Given the description of an element on the screen output the (x, y) to click on. 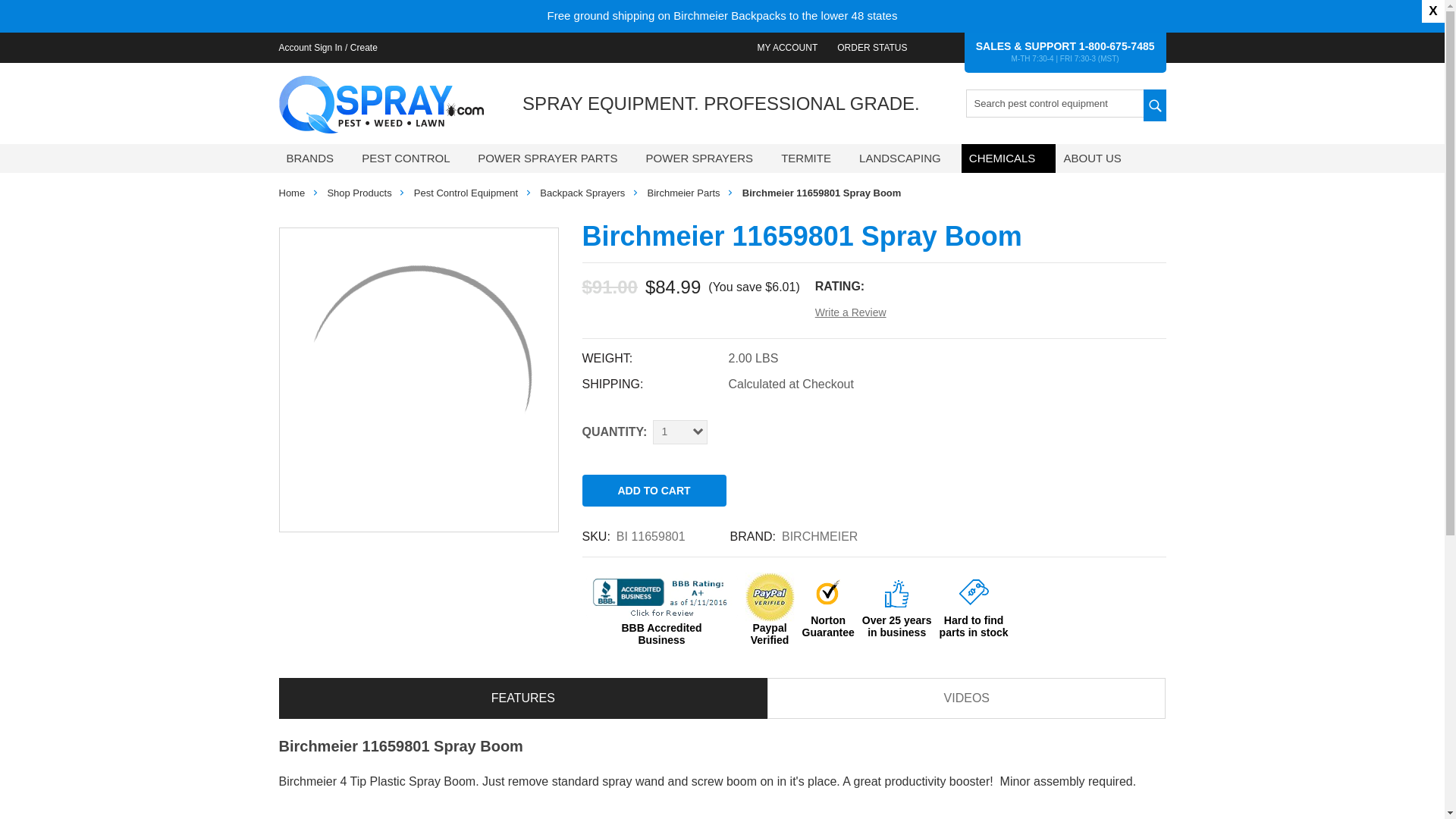
QSpray.com (381, 104)
Birchmeier 11659801 Spray Boom (418, 379)
MY ACCOUNT (787, 46)
Account Sign In (309, 46)
PEST CONTROL (411, 158)
Add to Cart (654, 490)
1-800-675-7485 (1116, 45)
BRANDS (317, 158)
Create (363, 46)
ORDER STATUS (871, 46)
